Given the description of an element on the screen output the (x, y) to click on. 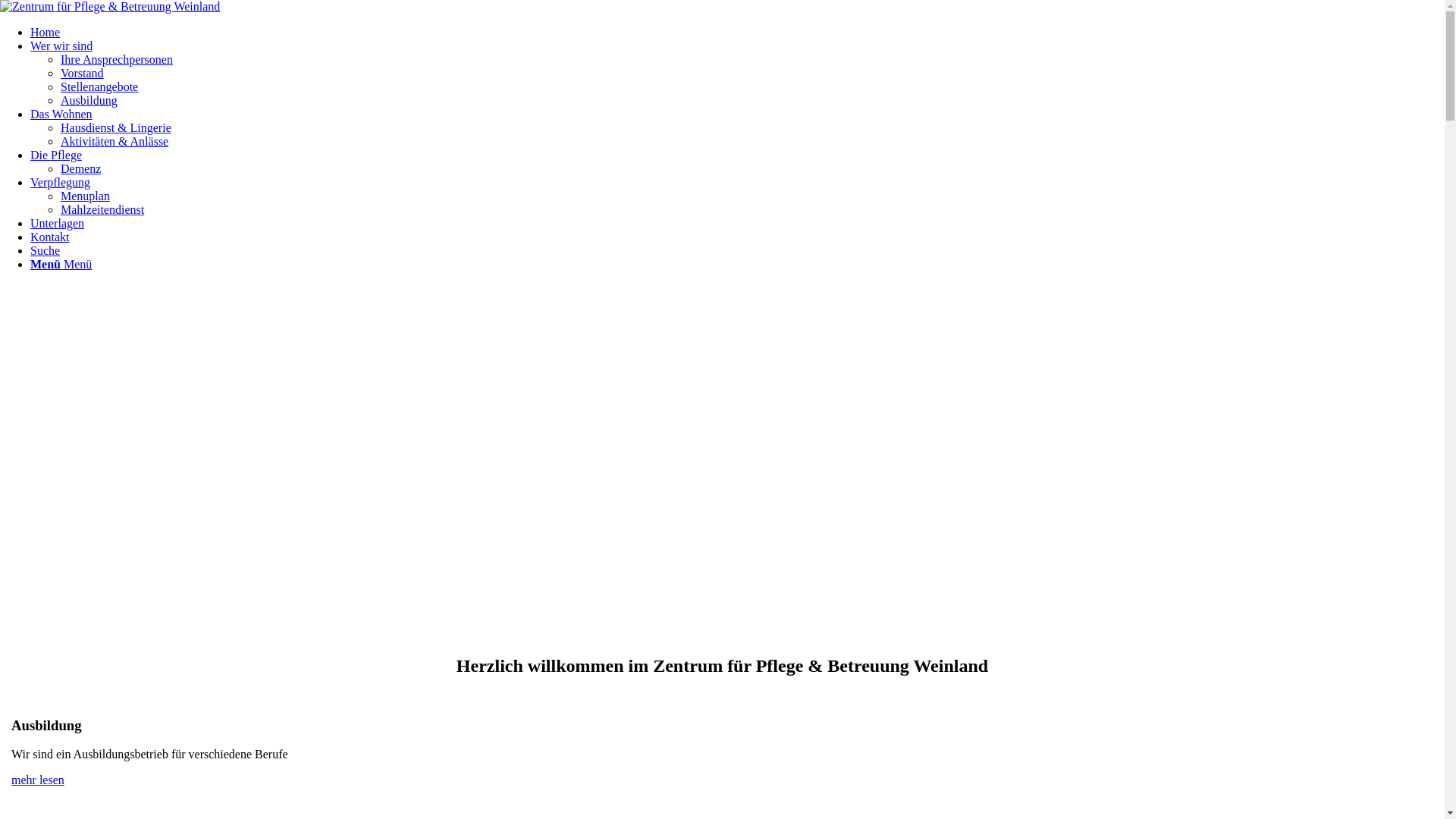
Hausdienst & Lingerie Element type: text (115, 127)
Mahlzeitendienst Element type: text (102, 209)
Verpflegung Element type: text (60, 181)
Suche Element type: text (44, 250)
Das Wohnen Element type: text (61, 113)
Kontakt Element type: text (49, 236)
Die Pflege Element type: text (55, 154)
Stellenangebote Element type: text (99, 86)
mehr lesen Element type: text (37, 779)
Unterlagen Element type: text (57, 222)
Vorstand Element type: text (81, 72)
Ausbildung Element type: text (88, 100)
Menuplan Element type: text (84, 195)
Ihre Ansprechpersonen Element type: text (116, 59)
Home Element type: text (44, 31)
Wer wir sind Element type: text (61, 45)
Demenz Element type: text (80, 168)
